Given the description of an element on the screen output the (x, y) to click on. 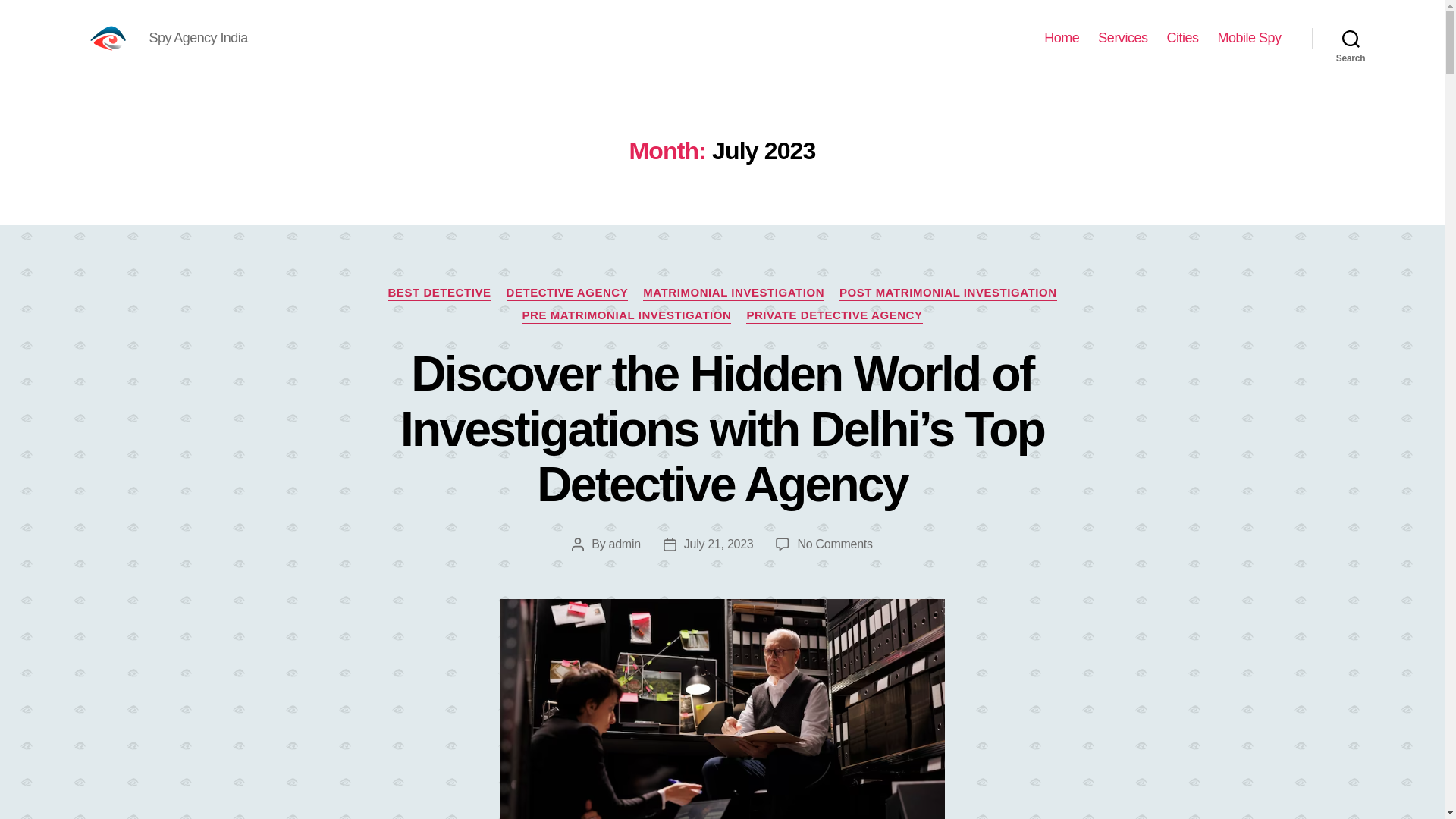
Cities (1182, 38)
Search (1350, 37)
Mobile Spy (1249, 38)
BEST DETECTIVE (438, 293)
Home (1060, 38)
July 21, 2023 (719, 543)
MATRIMONIAL INVESTIGATION (733, 293)
PRIVATE DETECTIVE AGENCY (833, 315)
Services (1122, 38)
admin (624, 543)
POST MATRIMONIAL INVESTIGATION (948, 293)
DETECTIVE AGENCY (567, 293)
PRE MATRIMONIAL INVESTIGATION (625, 315)
